Given the description of an element on the screen output the (x, y) to click on. 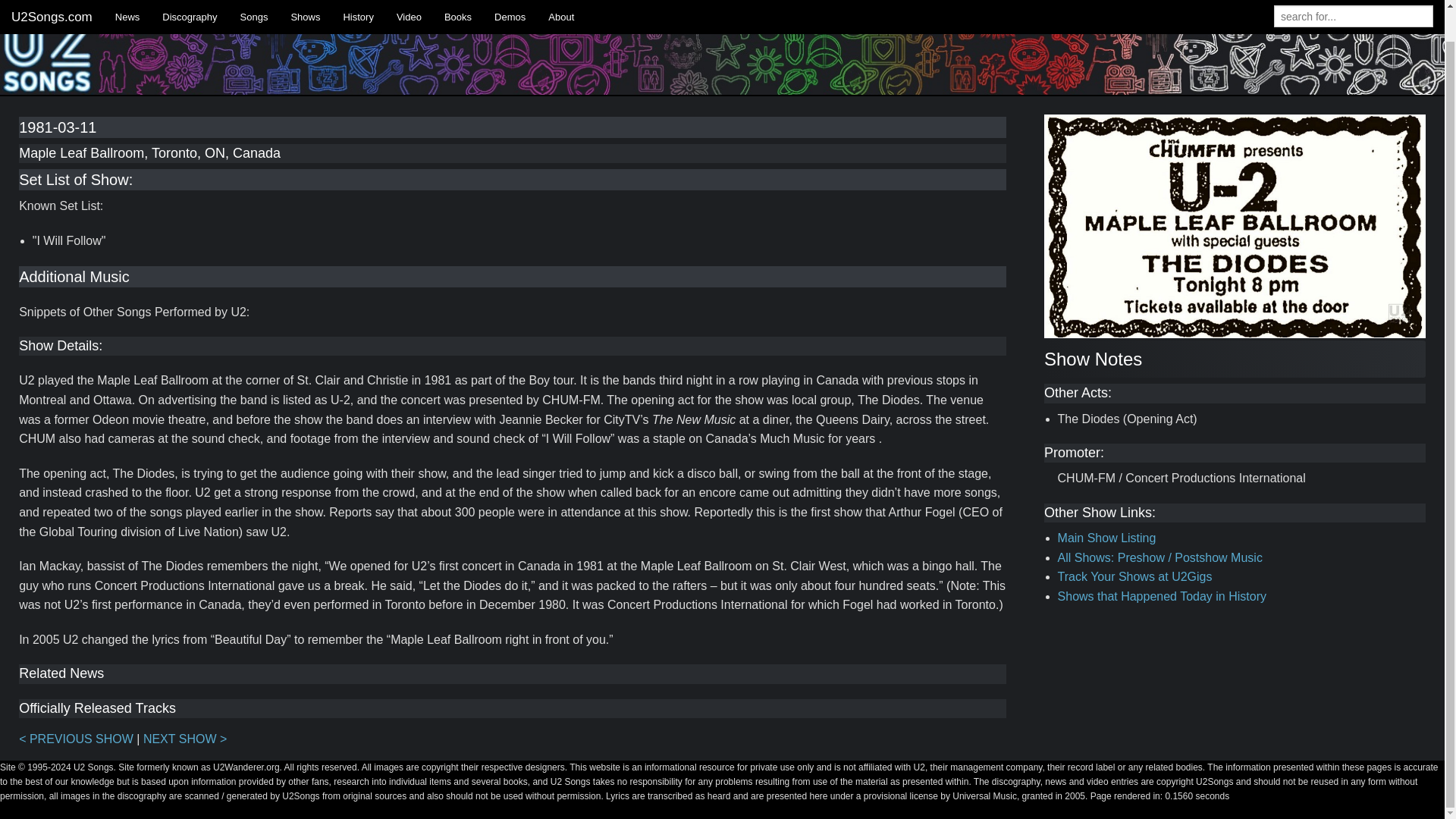
Track Your Shows at U2Gigs (1135, 576)
About (561, 0)
Songs (253, 0)
Books (457, 0)
History (357, 0)
News (127, 0)
Shows that Happened Today in History (1162, 595)
Shows (305, 0)
Discography (189, 0)
Main Show Listing (1107, 537)
Video (408, 0)
U2Songs.com (51, 0)
Demos (510, 0)
